Given the description of an element on the screen output the (x, y) to click on. 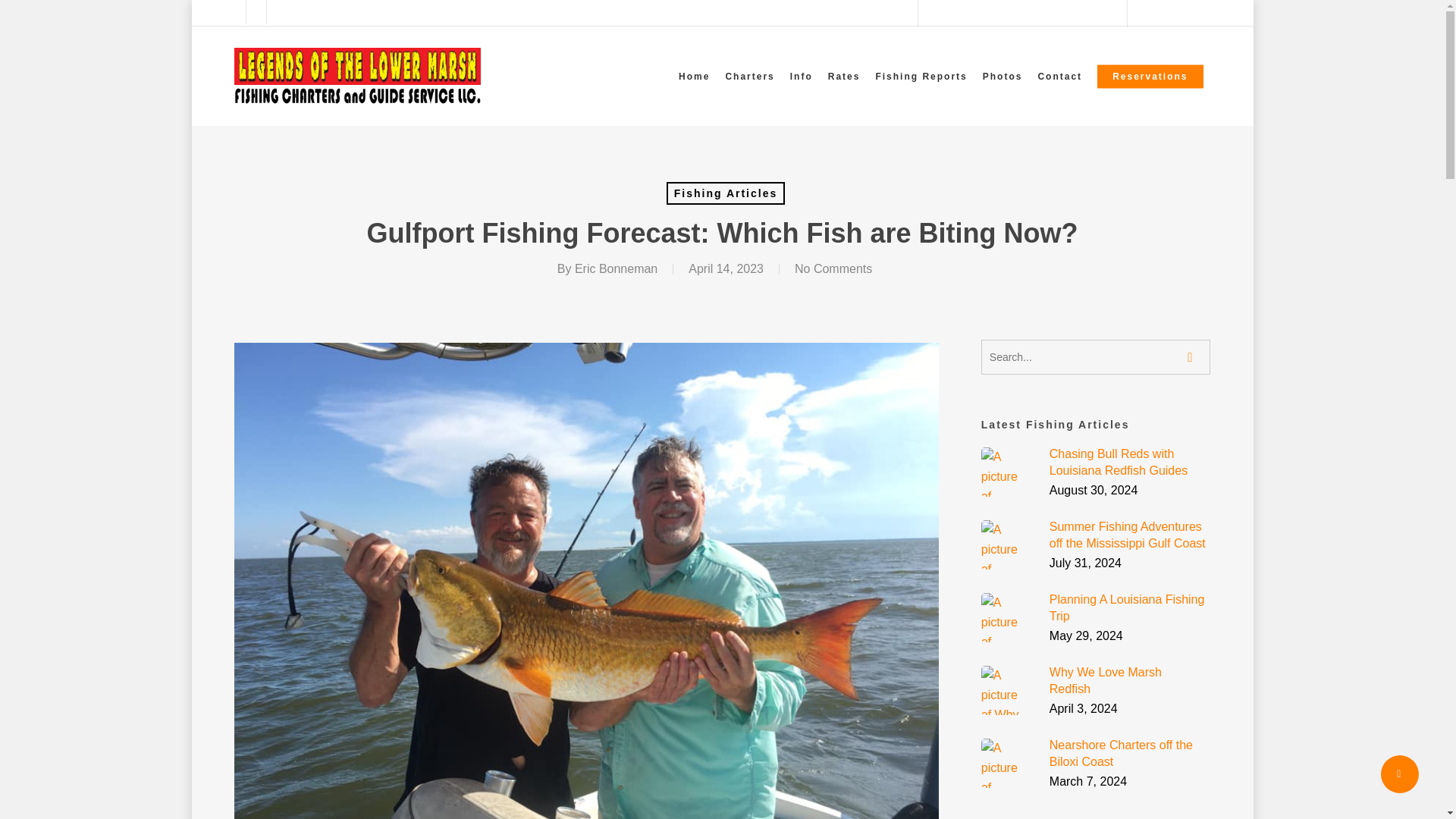
Fishing Articles (726, 192)
228-324-7612 (1168, 13)
Reservations (1149, 75)
Posts by Eric Bonneman (616, 268)
Info (802, 75)
Charters (749, 75)
Home (694, 75)
No Comments (833, 268)
Search for: (1096, 356)
